Given the description of an element on the screen output the (x, y) to click on. 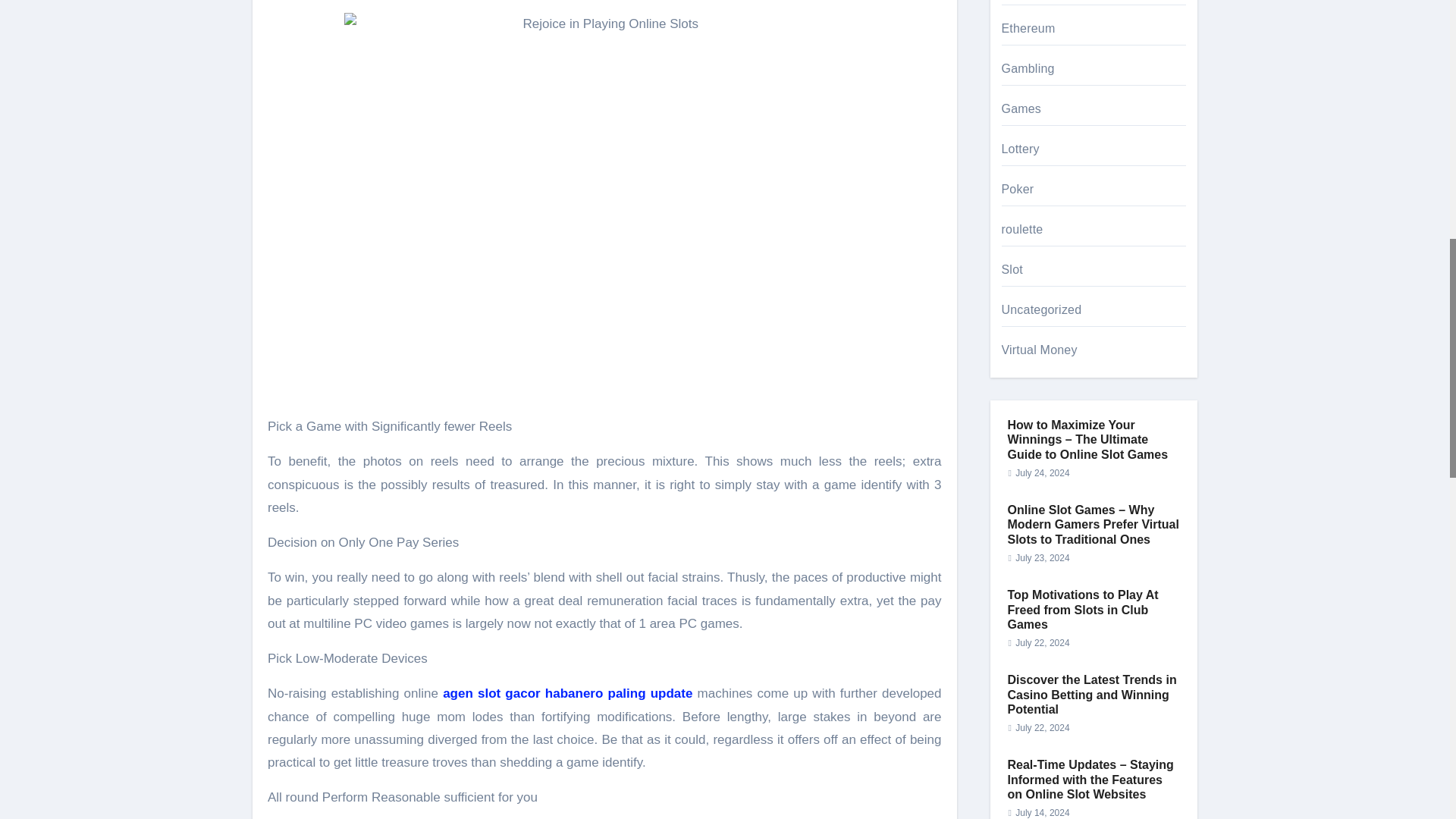
agen slot gacor habanero paling update (567, 693)
